Given the description of an element on the screen output the (x, y) to click on. 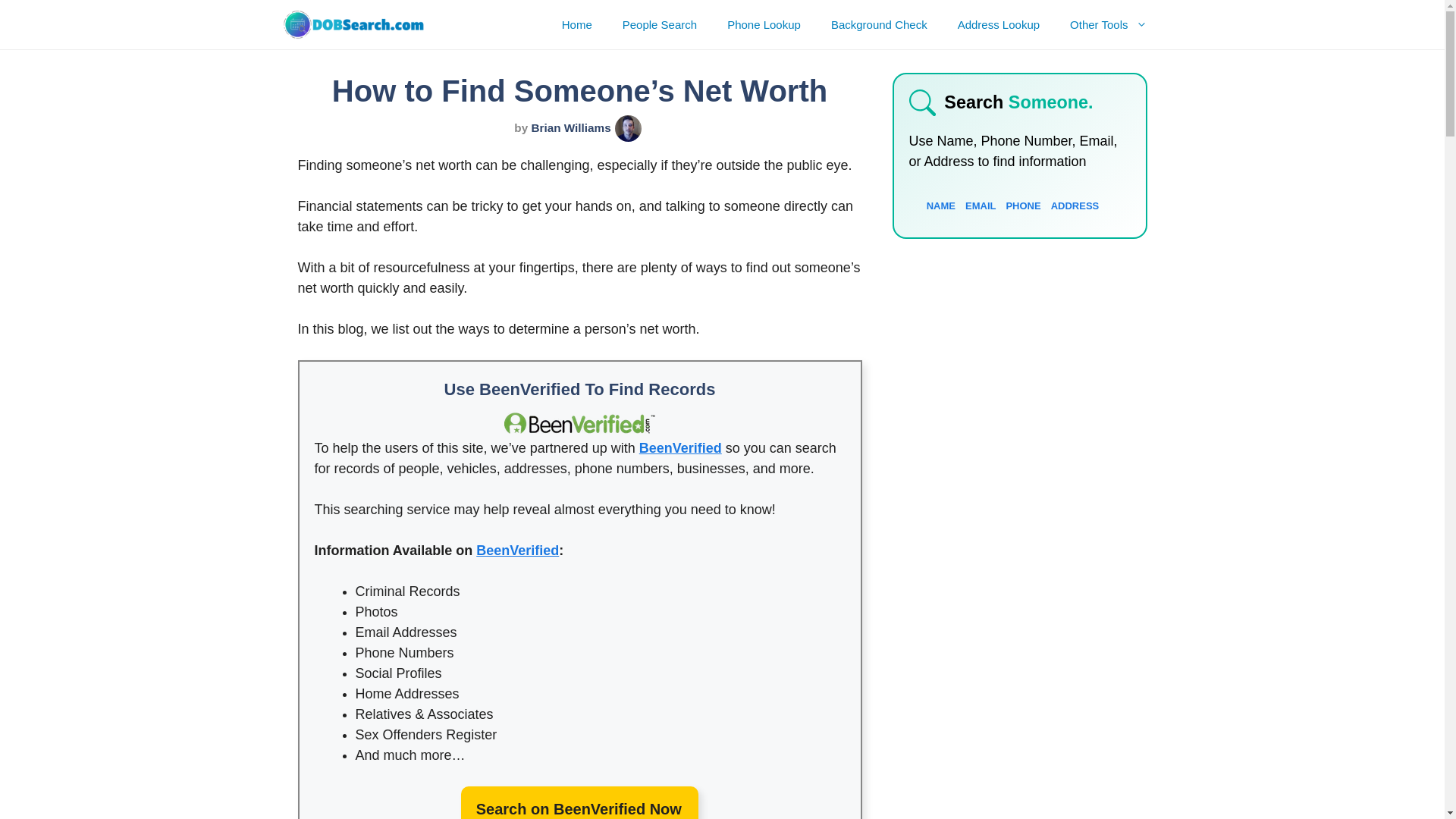
Phone Lookup (763, 24)
BeenVerified (517, 549)
Home (577, 24)
View all posts by Brian Williams (570, 126)
Address Lookup (998, 24)
People Search (659, 24)
Brian Williams (570, 126)
DOBSearch.com (353, 24)
BeenVerified (680, 447)
Search on BeenVerified Now (579, 802)
Background Check (878, 24)
Other Tools (1107, 24)
